Given the description of an element on the screen output the (x, y) to click on. 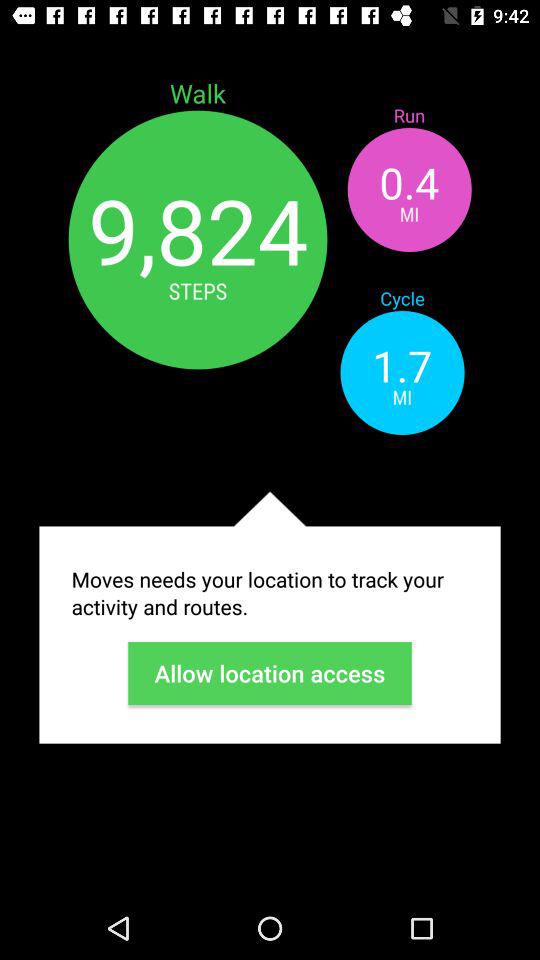
select moves needs your at the center (269, 593)
